Given the description of an element on the screen output the (x, y) to click on. 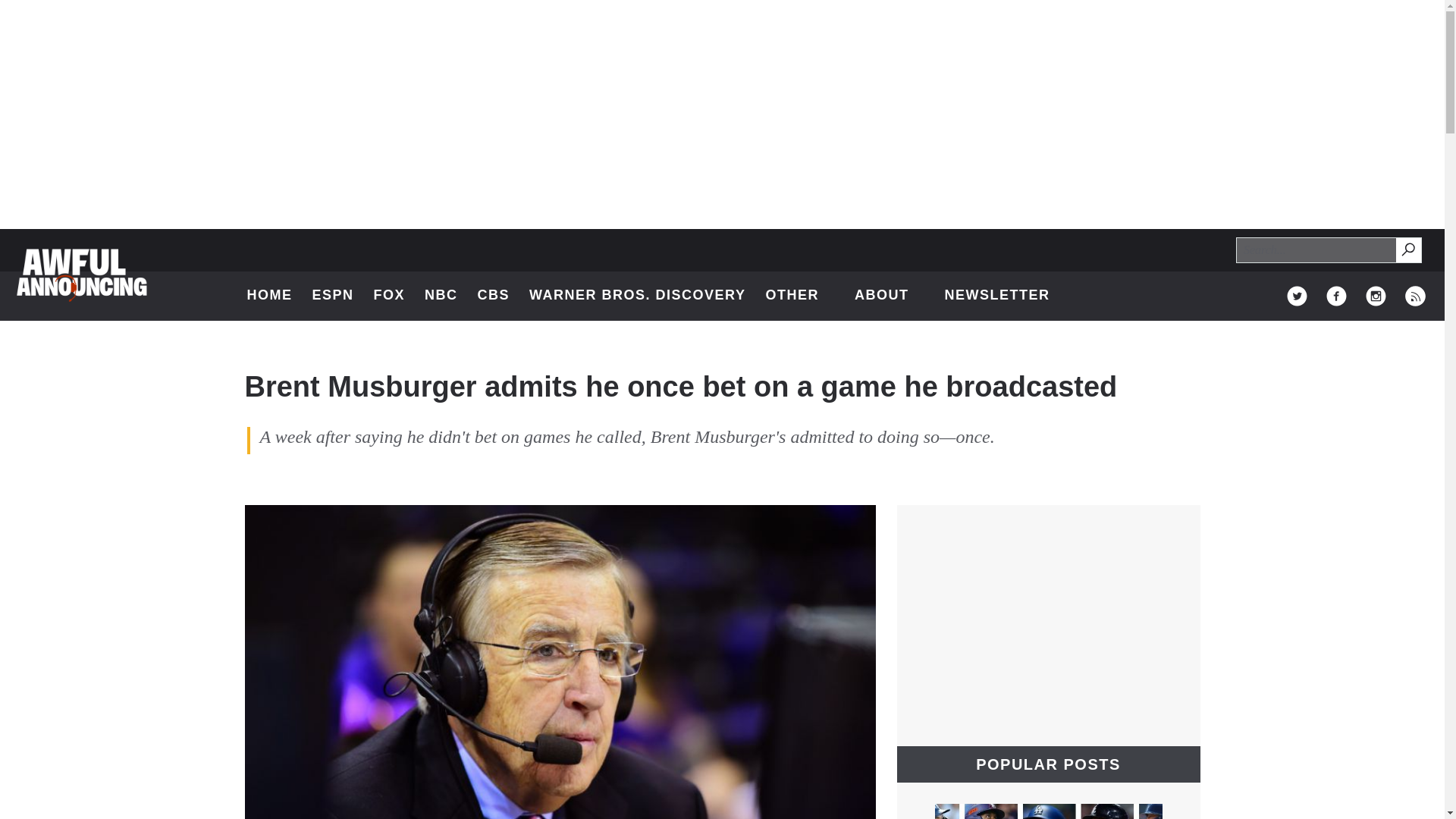
HOME (269, 296)
NEWSLETTER (996, 296)
CBS (493, 296)
SEARCH (1407, 249)
Link to Twitter (1296, 296)
NBC (441, 296)
OTHER (799, 296)
WARNER BROS. DISCOVERY (636, 296)
Link to Facebook (1409, 249)
